Given the description of an element on the screen output the (x, y) to click on. 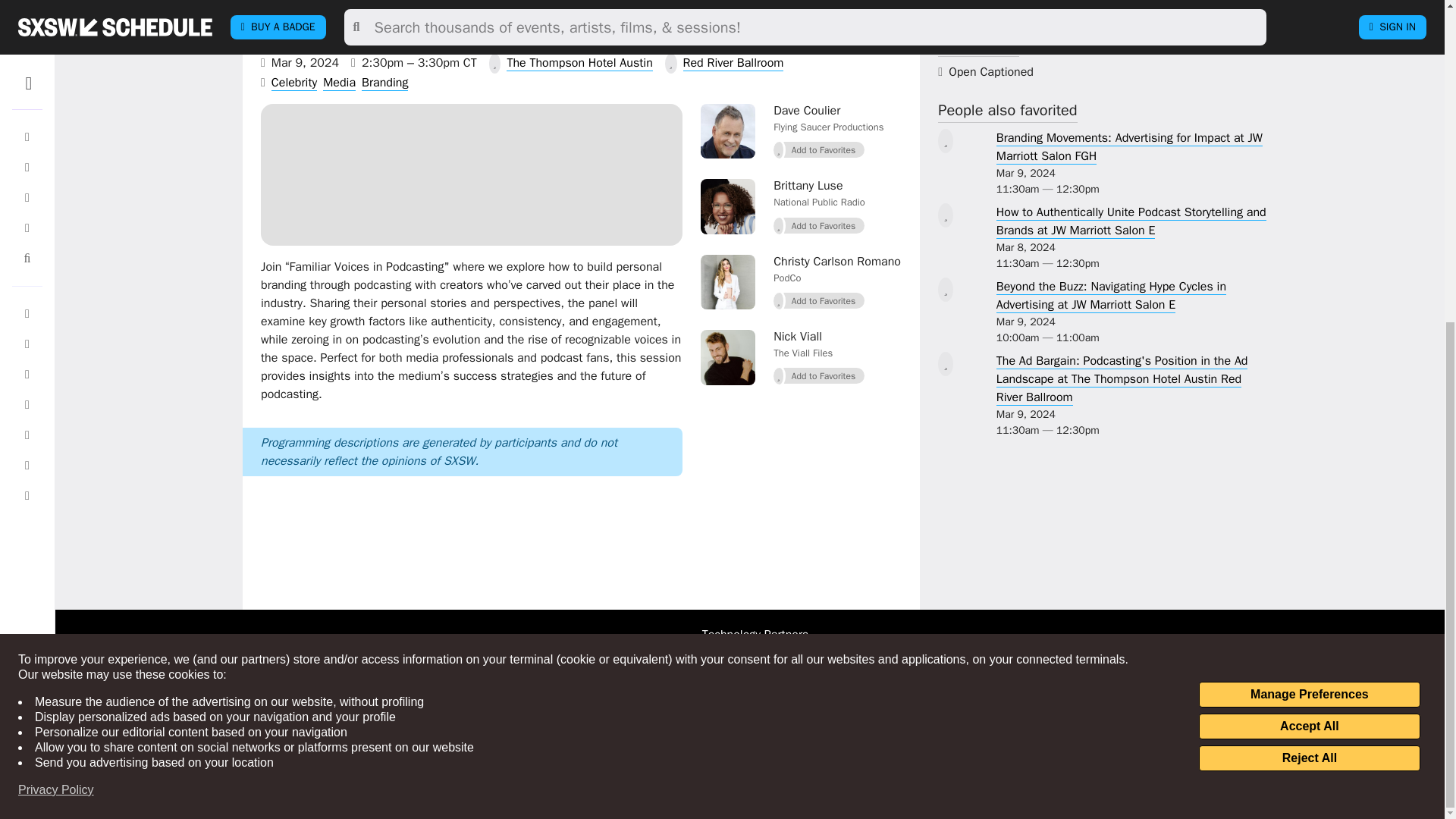
The Thompson Hotel Austin (579, 63)
Sign In to add to your favorites. (818, 225)
Sign In to add to your favorites. (818, 149)
Manage Preferences (1309, 168)
Reject All (1309, 232)
Accept All (1309, 200)
Privacy Policy (55, 264)
Sign In to add to your favorites. (818, 375)
Sign In to add to your favorites. (818, 301)
